Given the description of an element on the screen output the (x, y) to click on. 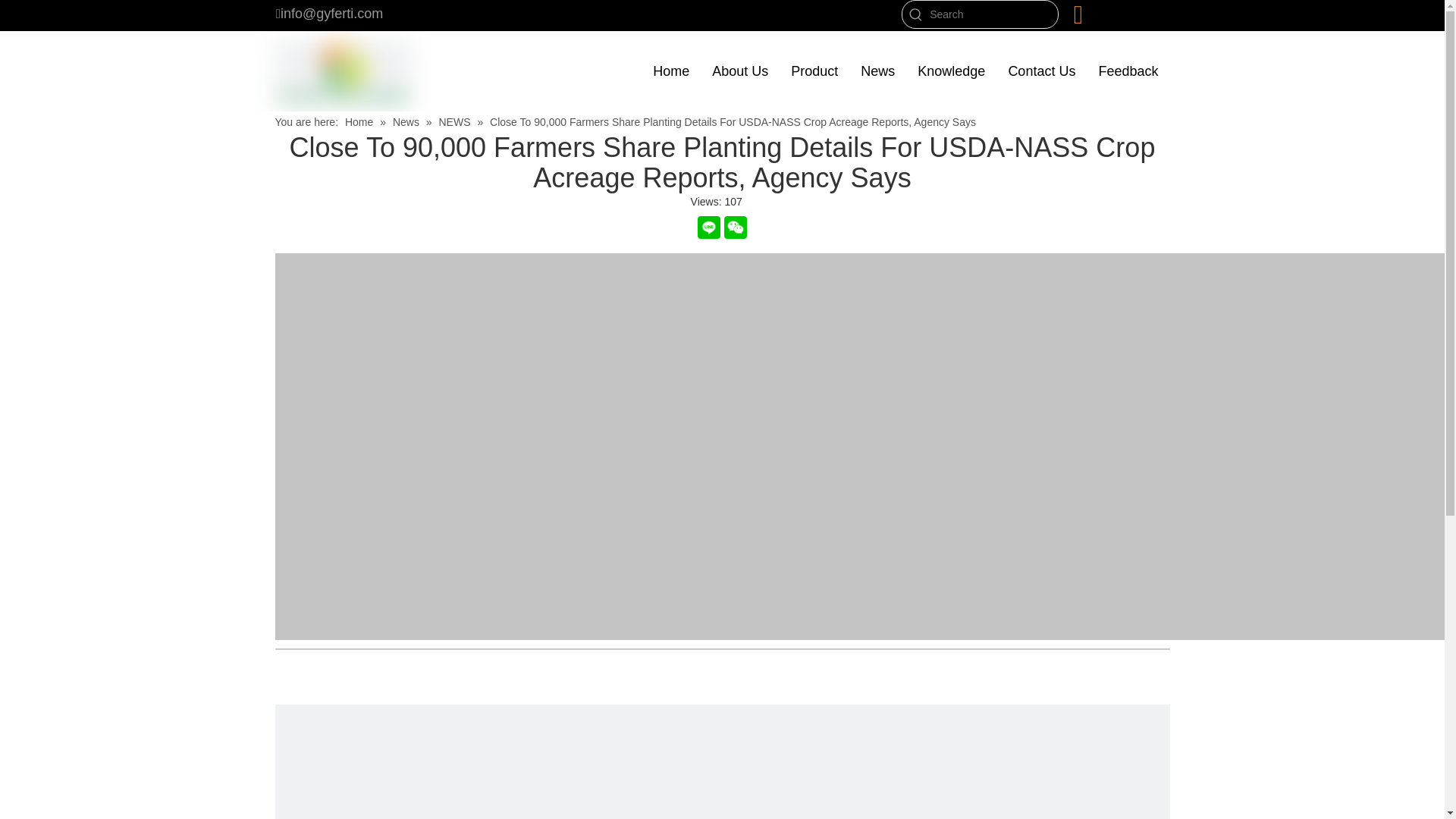
Linkedin (317, 692)
About Us (739, 70)
Home (360, 121)
News (876, 70)
Knowledge (950, 70)
Feedback (1127, 70)
Facebook (286, 692)
Home (671, 70)
Go To SHANXIGUANGYUAN FERTILIZER CO.,LTD. (342, 71)
NEWS (455, 121)
Twitter (348, 692)
Pinterest (379, 692)
Product (813, 70)
News (407, 121)
Contact Us (1040, 70)
